Given the description of an element on the screen output the (x, y) to click on. 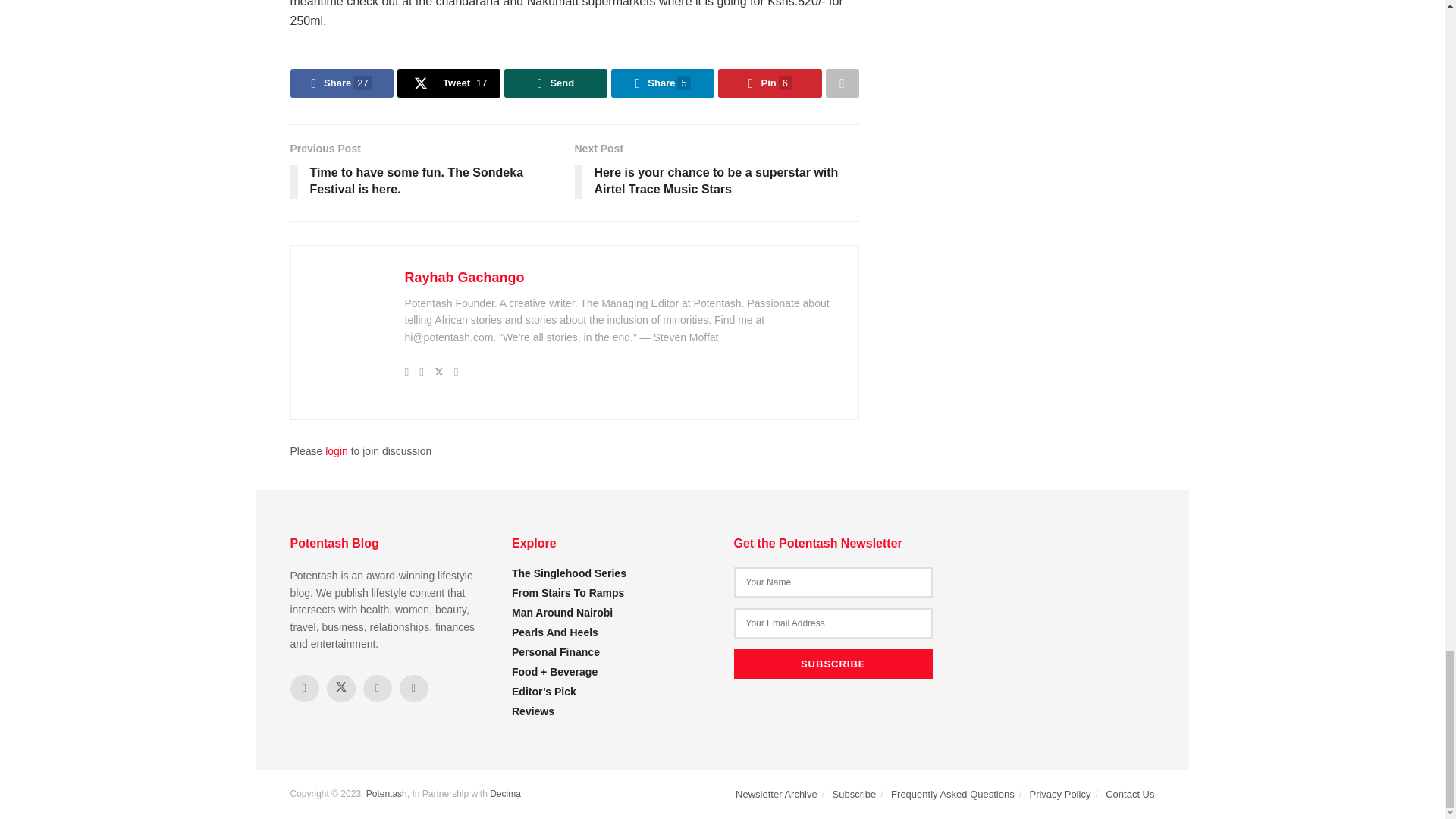
Subscribe (833, 664)
